Given the description of an element on the screen output the (x, y) to click on. 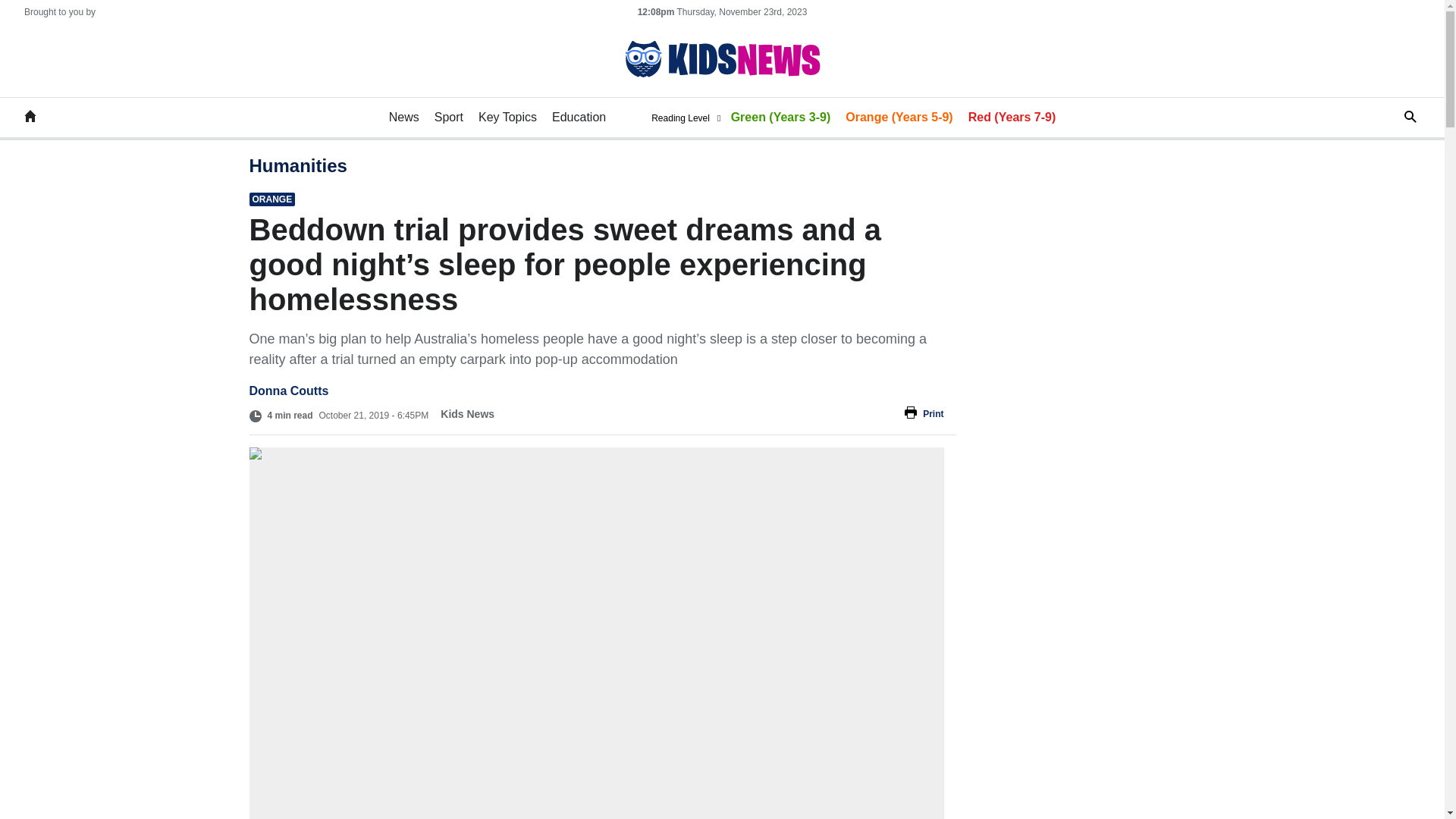
Education Element type: text (578, 117)
Red (Years 7-9) Element type: text (1011, 117)
Sport Element type: text (448, 117)
Green (Years 3-9) Element type: text (780, 117)
News Element type: text (403, 117)
Key Topics Element type: text (507, 117)
KidsNews Element type: hover (721, 58)
Humanities Element type: text (297, 165)
Print Element type: text (724, 414)
Orange (Years 5-9) Element type: text (898, 117)
Search Element type: hover (1397, 116)
KidsNews Element type: hover (30, 117)
